Given the description of an element on the screen output the (x, y) to click on. 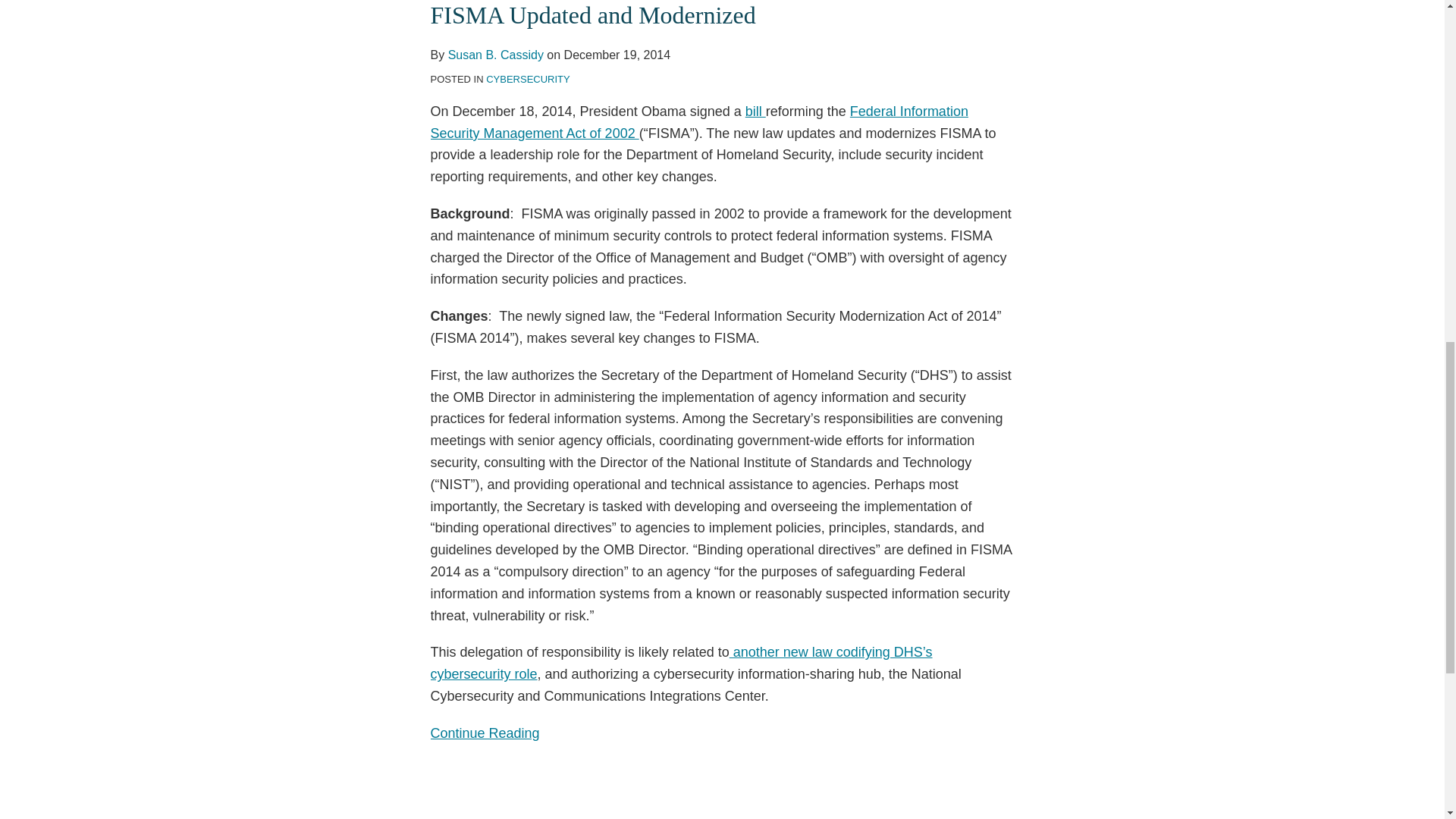
Susan B. Cassidy (495, 54)
bill (755, 111)
Federal Information Security Management Act of 2002 (699, 122)
CYBERSECURITY (528, 79)
FISMA Updated and Modernized (722, 733)
